Given the description of an element on the screen output the (x, y) to click on. 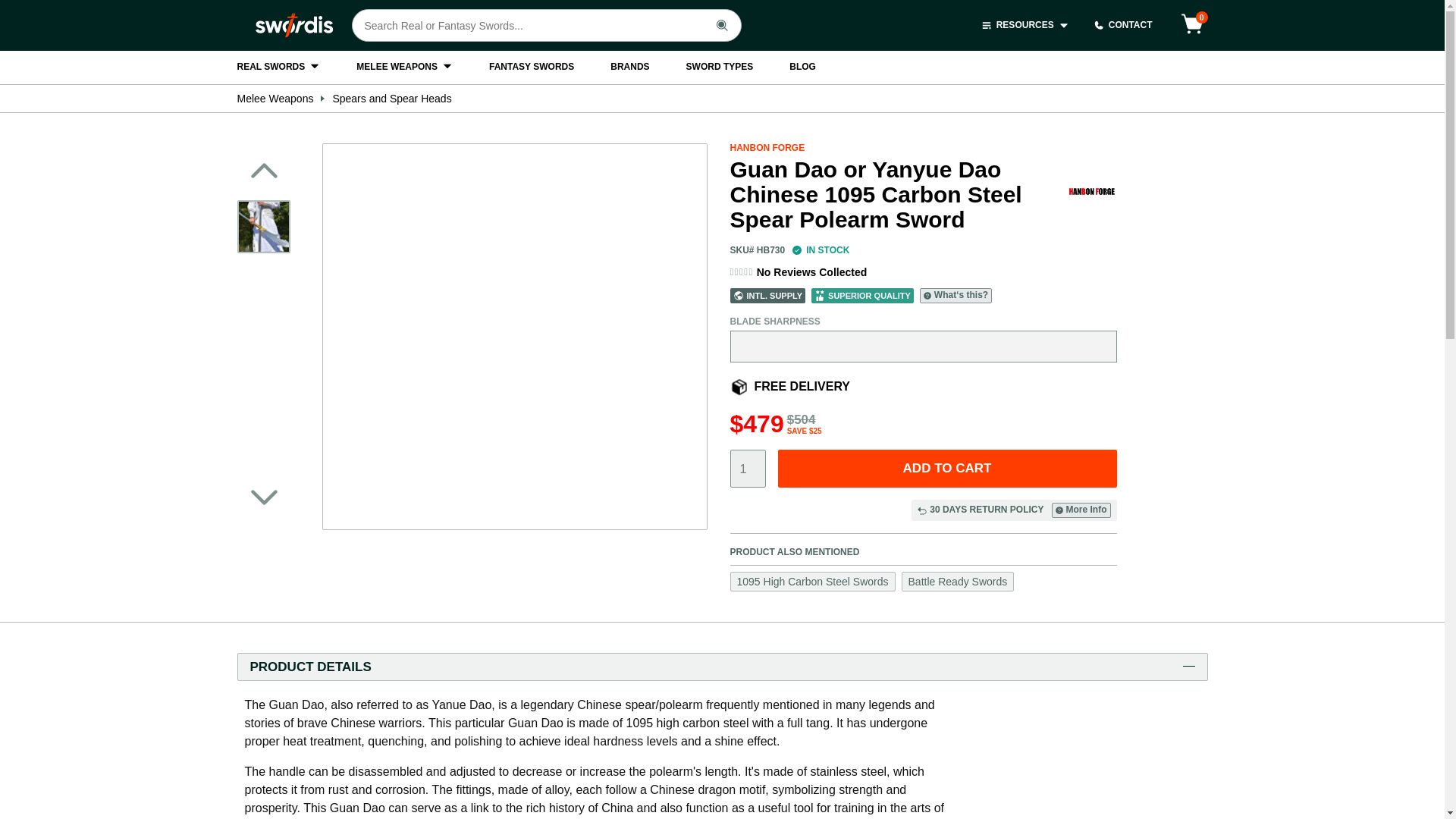
Spears and Spear Heads (391, 98)
No Reviews Collected (812, 271)
FANTASY SWORDS (531, 67)
BRANDS (629, 67)
CONTACT (1123, 25)
0 (1192, 25)
SWORD TYPES (719, 67)
HANBON FORGE (767, 147)
REAL SWORDS (277, 67)
MELEE WEAPONS (404, 67)
Melee Weapons (274, 98)
